Given the description of an element on the screen output the (x, y) to click on. 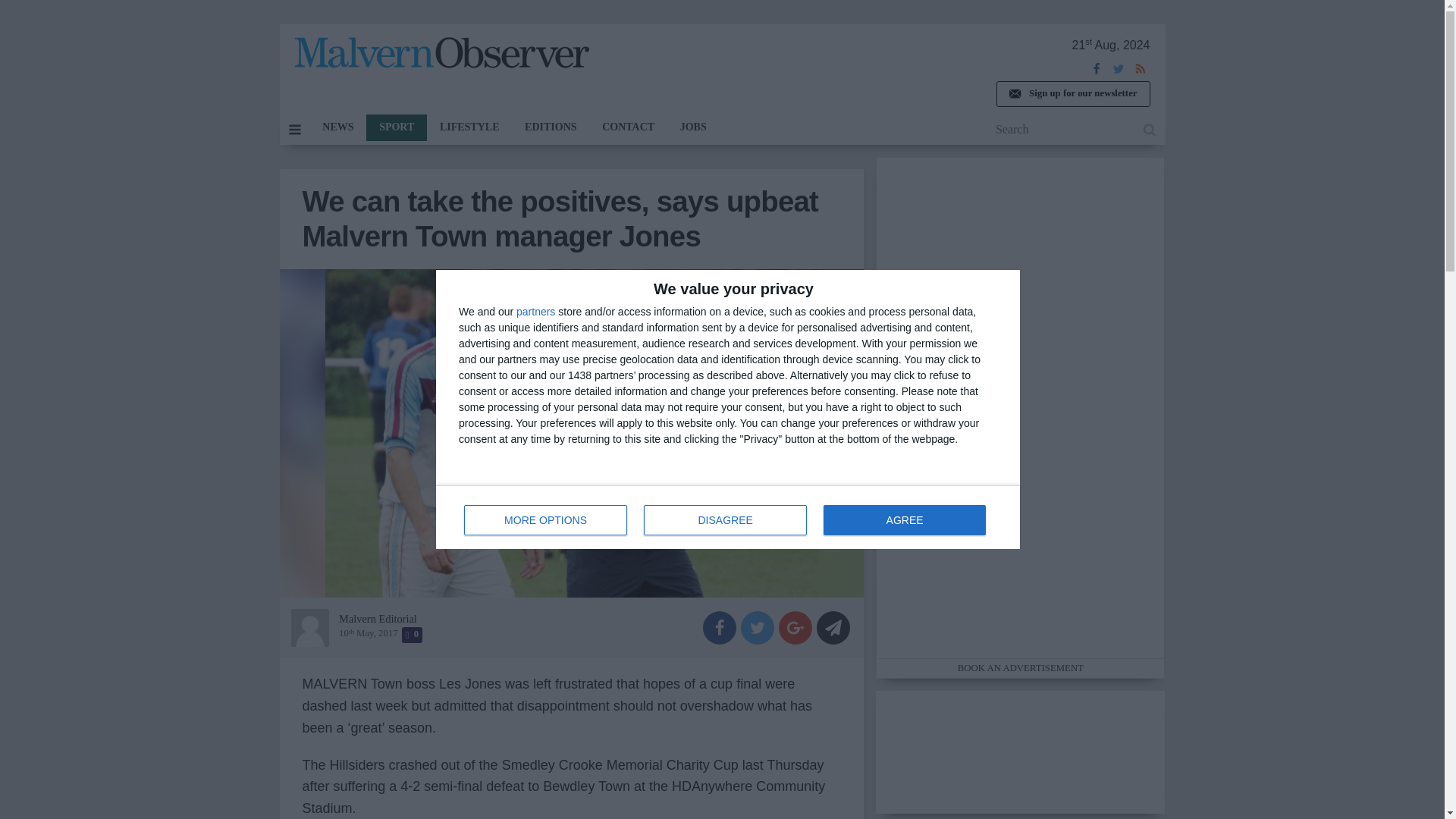
DISAGREE (727, 516)
CONTACT (724, 520)
partners (627, 127)
EDITIONS (535, 311)
The Malvern Observer (550, 127)
SPORT (441, 55)
AGREE (396, 127)
LIFESTYLE (904, 520)
  Sign up for our newsletter (469, 127)
